Given the description of an element on the screen output the (x, y) to click on. 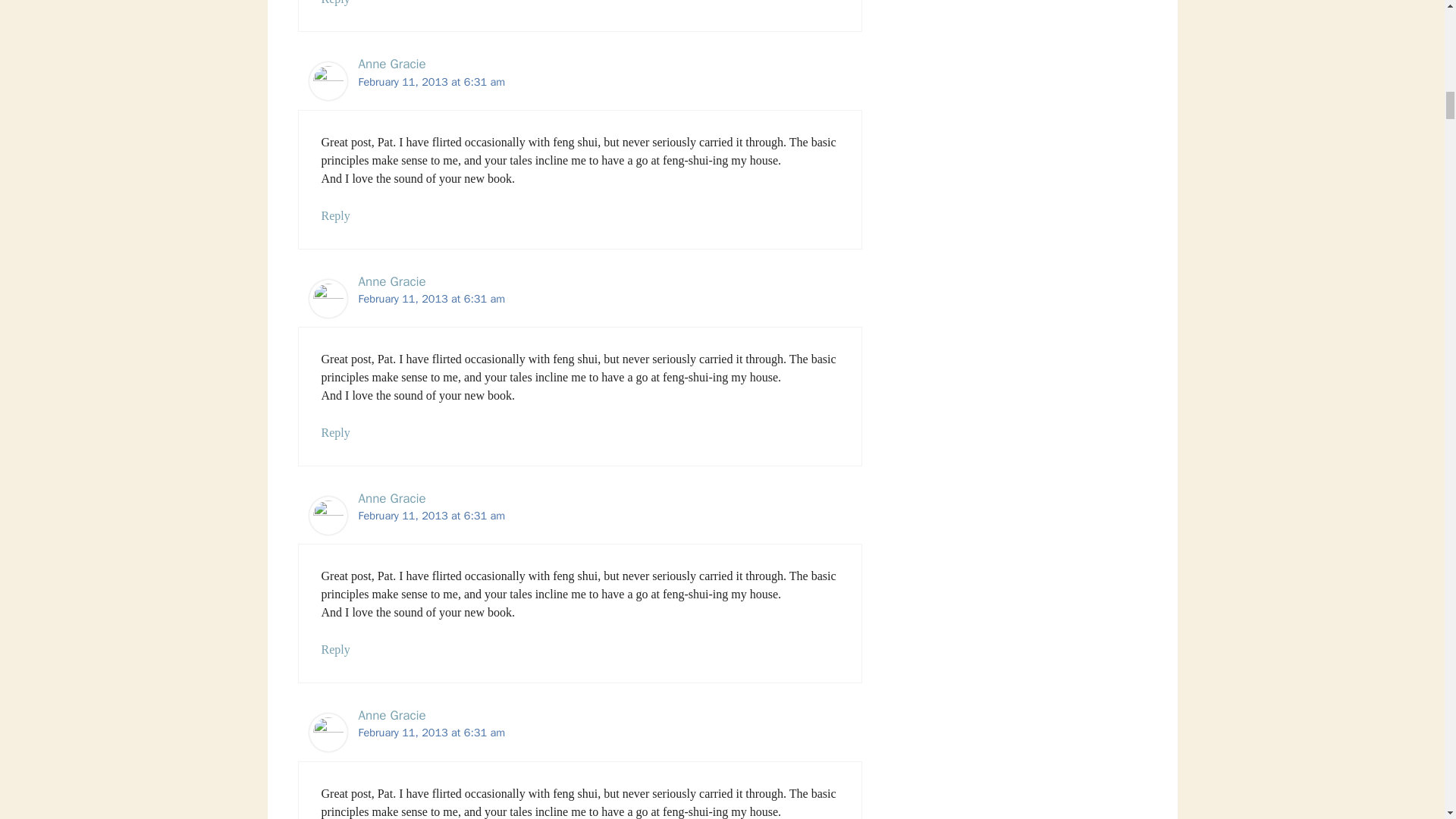
Reply (335, 2)
Anne Gracie (391, 64)
February 11, 2013 at 6:31 am (431, 81)
